Given the description of an element on the screen output the (x, y) to click on. 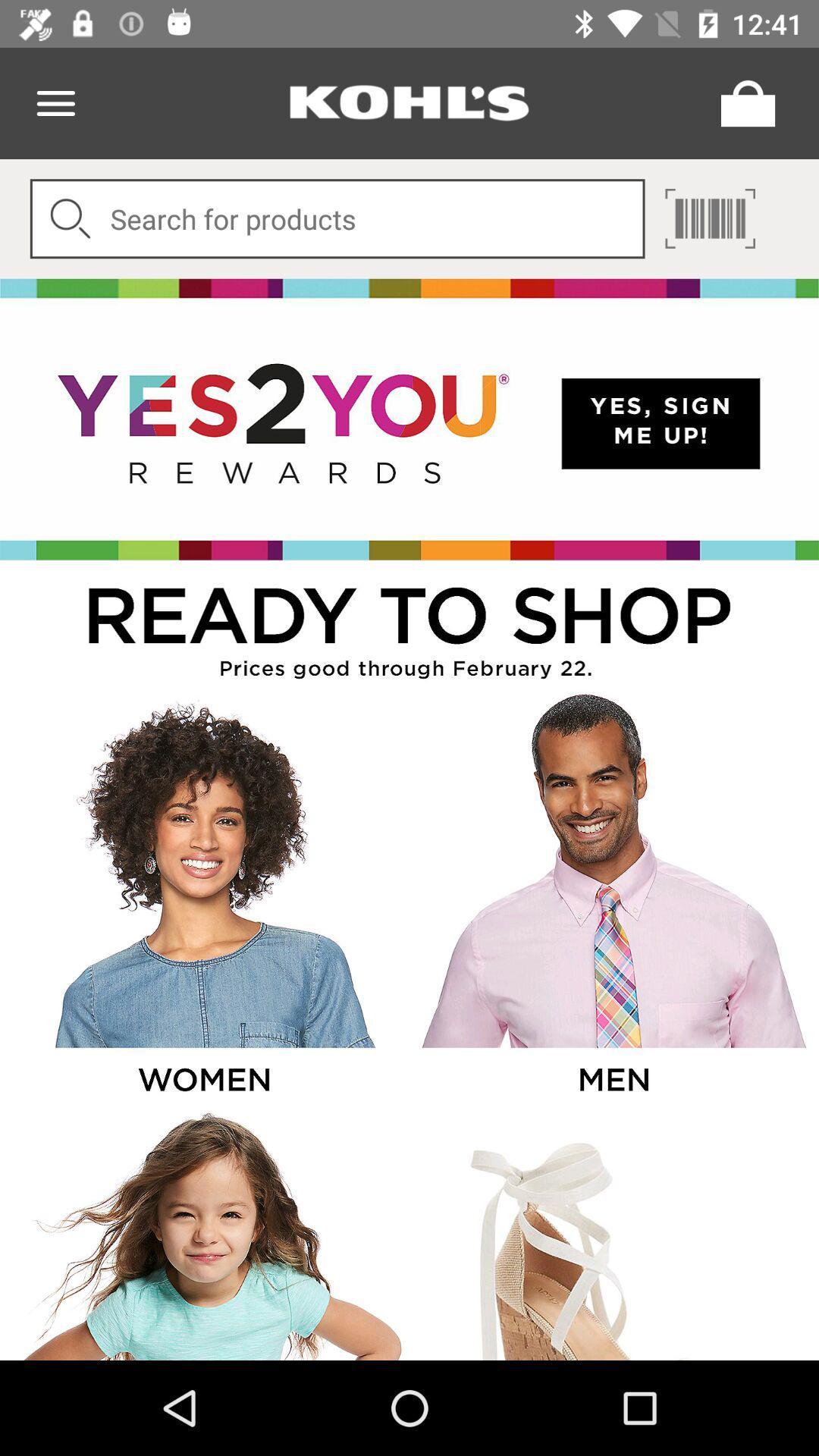
header text option (409, 103)
